Given the description of an element on the screen output the (x, y) to click on. 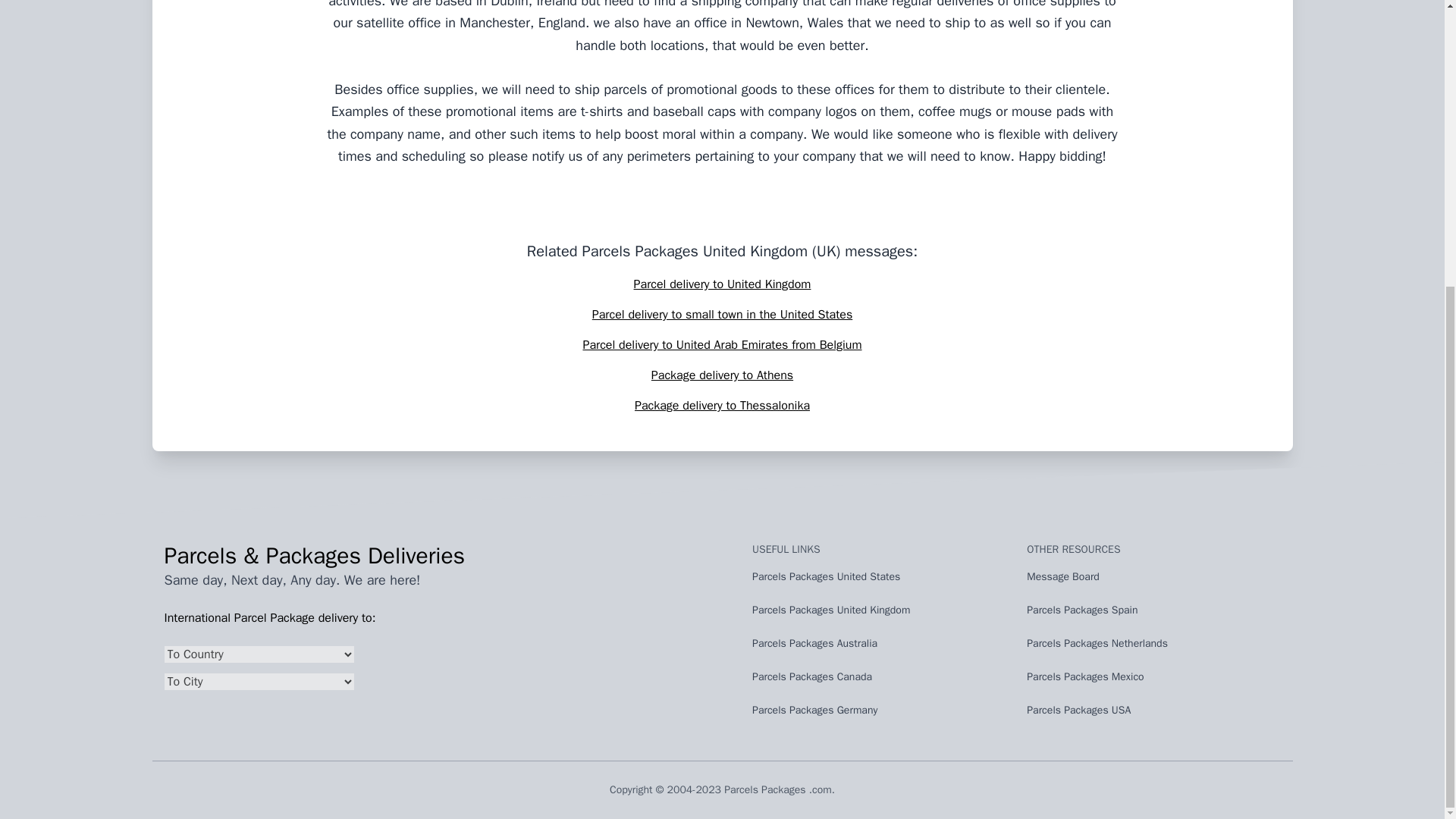
Message Board (1151, 579)
Parcels Packages United Kingdom (877, 613)
Parcels Packages Spain (1151, 613)
Parcels Packages Message Board (1151, 646)
Parcels Packages Australia (877, 646)
Parcels Packages Germany (877, 712)
Parcel delivery to United Arab Emirates from Belgium (721, 344)
Parcels Packages United States (877, 579)
Parcels Packages Message Board (1151, 613)
Package delivery to Athens (721, 375)
Parcel delivery to small town in the United States (721, 314)
Parcels Packages Message Board (1151, 712)
Package delivery to Thessalonika (721, 405)
Parcels Packages Message Board (1151, 680)
Parcels Packages Message Board (1151, 579)
